Given the description of an element on the screen output the (x, y) to click on. 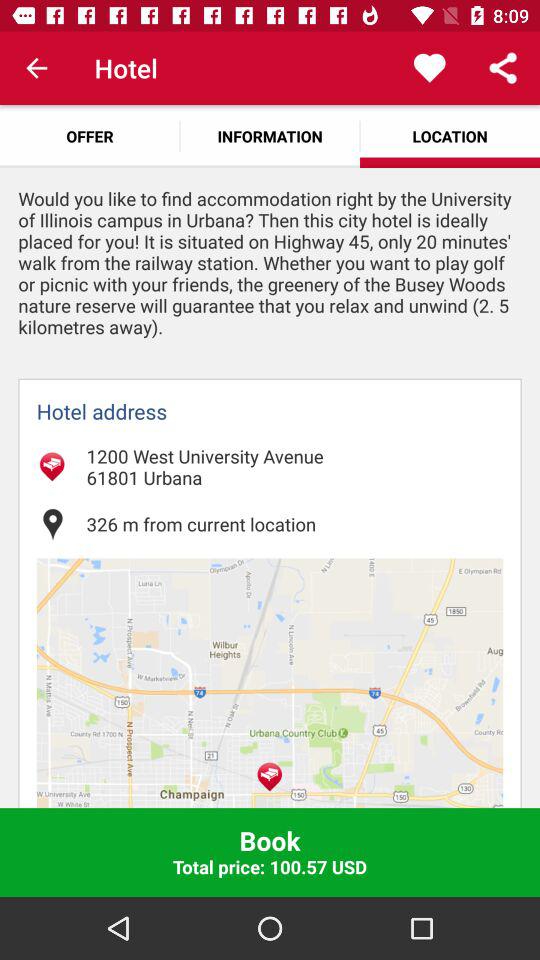
press icon next to the offer (270, 136)
